Given the description of an element on the screen output the (x, y) to click on. 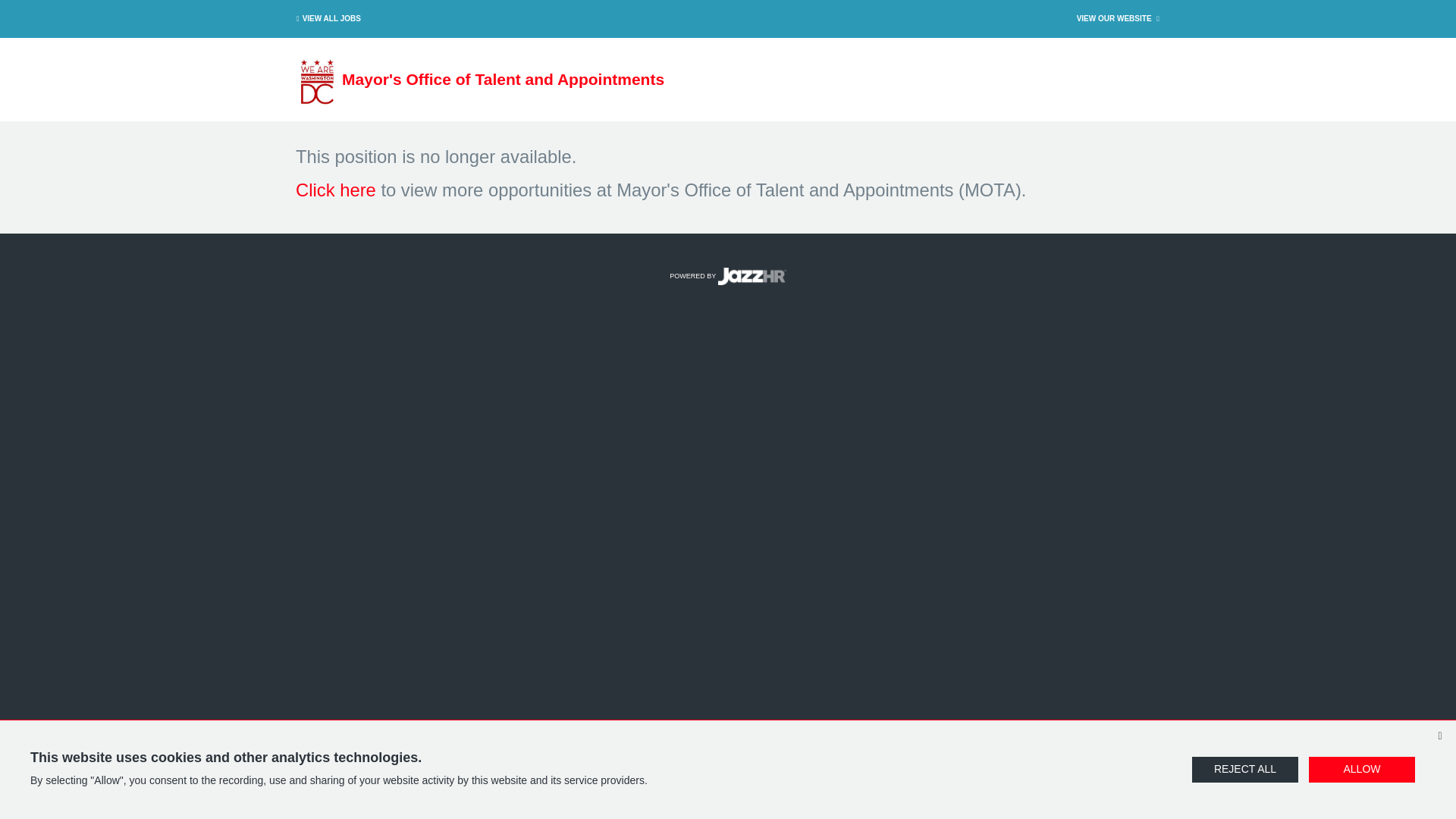
POWERED BY (727, 275)
VIEW ALL JOBS (326, 18)
Click here (335, 189)
VIEW OUR WEBSITE (1119, 18)
